Given the description of an element on the screen output the (x, y) to click on. 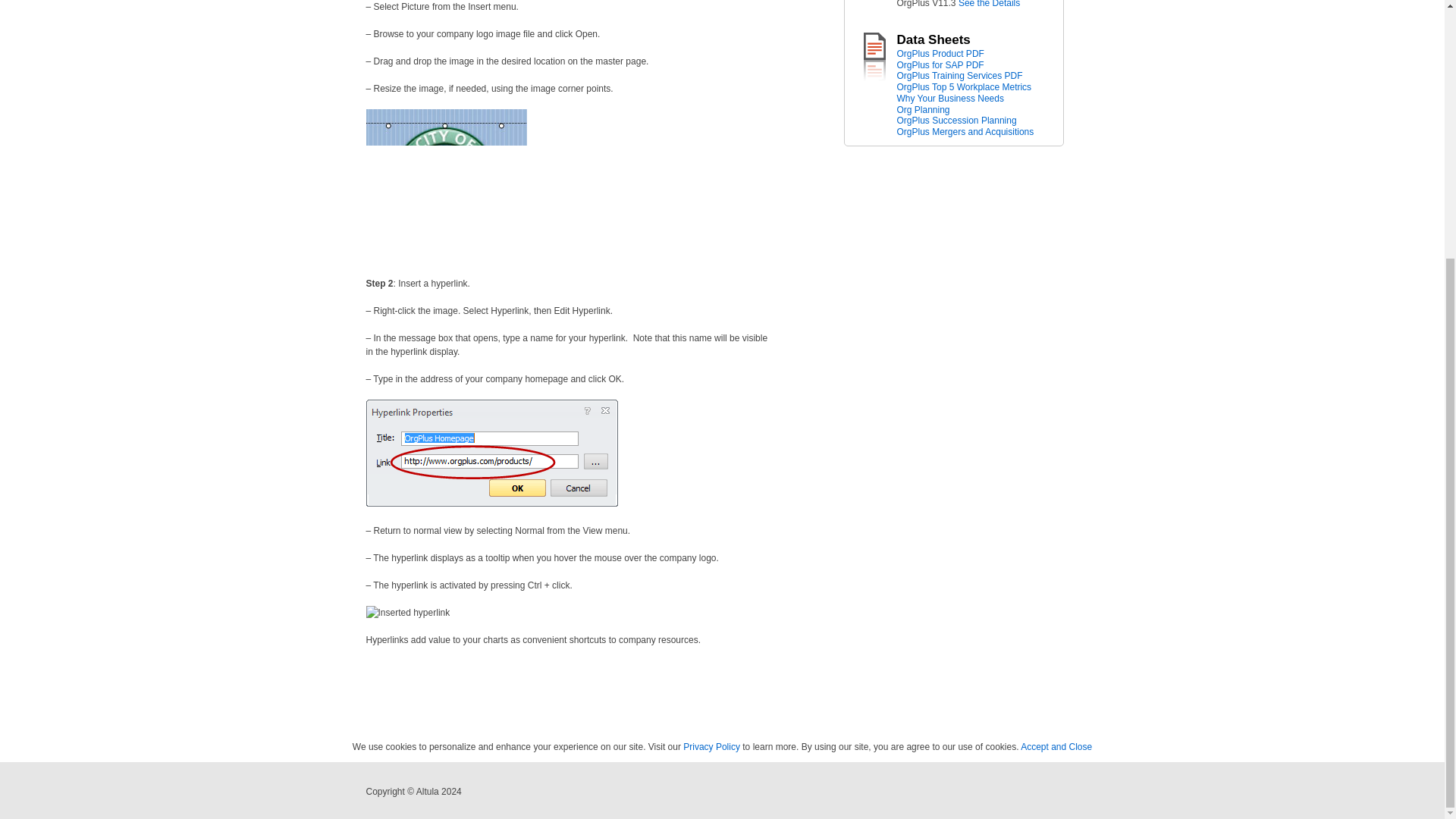
See the Details (989, 4)
OrgPlus Mergers and Acquisitions (964, 131)
OrgPlus for SAP PDF (940, 64)
OrgPlus Succession Planning (956, 120)
OrgPlus Product PDF (940, 53)
OrgPlus Training Services PDF (959, 75)
Accept and Close (949, 104)
Privacy Policy (1056, 747)
OrgPlus Top 5 Workplace Metrics (710, 747)
